Given the description of an element on the screen output the (x, y) to click on. 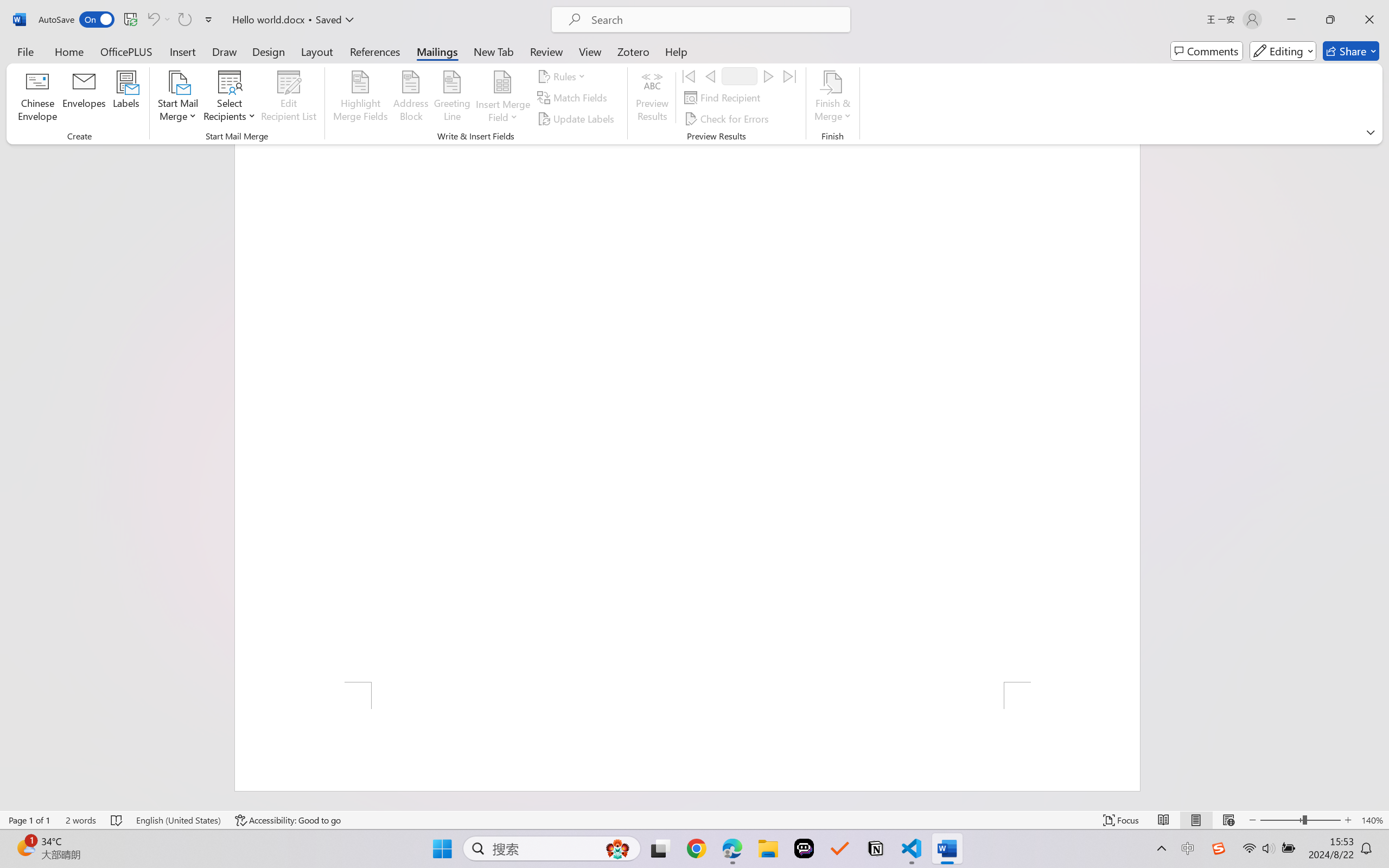
Can't Undo (152, 19)
AutoSave (76, 19)
View (589, 51)
Review (546, 51)
Print Layout (1196, 819)
Save (130, 19)
Read Mode (1163, 819)
Zotero (632, 51)
More Options (167, 19)
Web Layout (1228, 819)
